Given the description of an element on the screen output the (x, y) to click on. 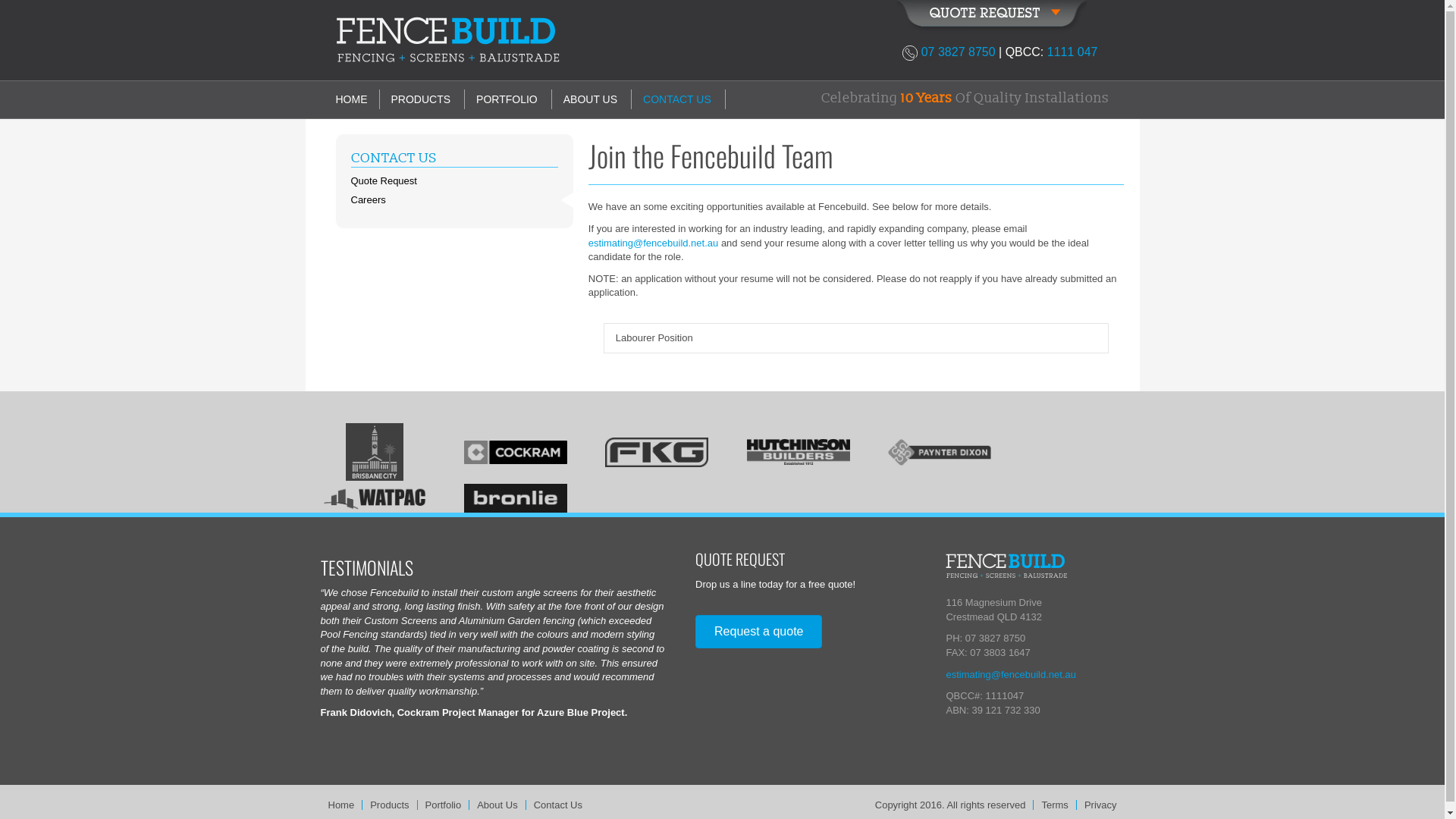
Request a quote Element type: text (758, 631)
07 3827 8750 Element type: text (958, 51)
Terms Element type: text (1054, 804)
ABOUT US Element type: text (590, 100)
HOME Element type: text (356, 100)
Privacy Element type: text (1100, 804)
Home Element type: text (340, 804)
Portfolio Element type: text (442, 804)
Products Element type: text (389, 804)
Contact Us Element type: text (557, 804)
estimating@fencebuild.net.au Element type: text (653, 242)
estimating@fencebuild.net.au Element type: text (1010, 674)
CONTACT US Element type: text (453, 158)
About Us Element type: text (496, 804)
PORTFOLIO Element type: text (506, 100)
Copyright 2016. All rights reserved Element type: text (950, 804)
PRODUCTS Element type: text (420, 100)
Quote Request Element type: text (453, 180)
CONTACT US Element type: text (676, 100)
Careers Element type: text (453, 199)
